Given the description of an element on the screen output the (x, y) to click on. 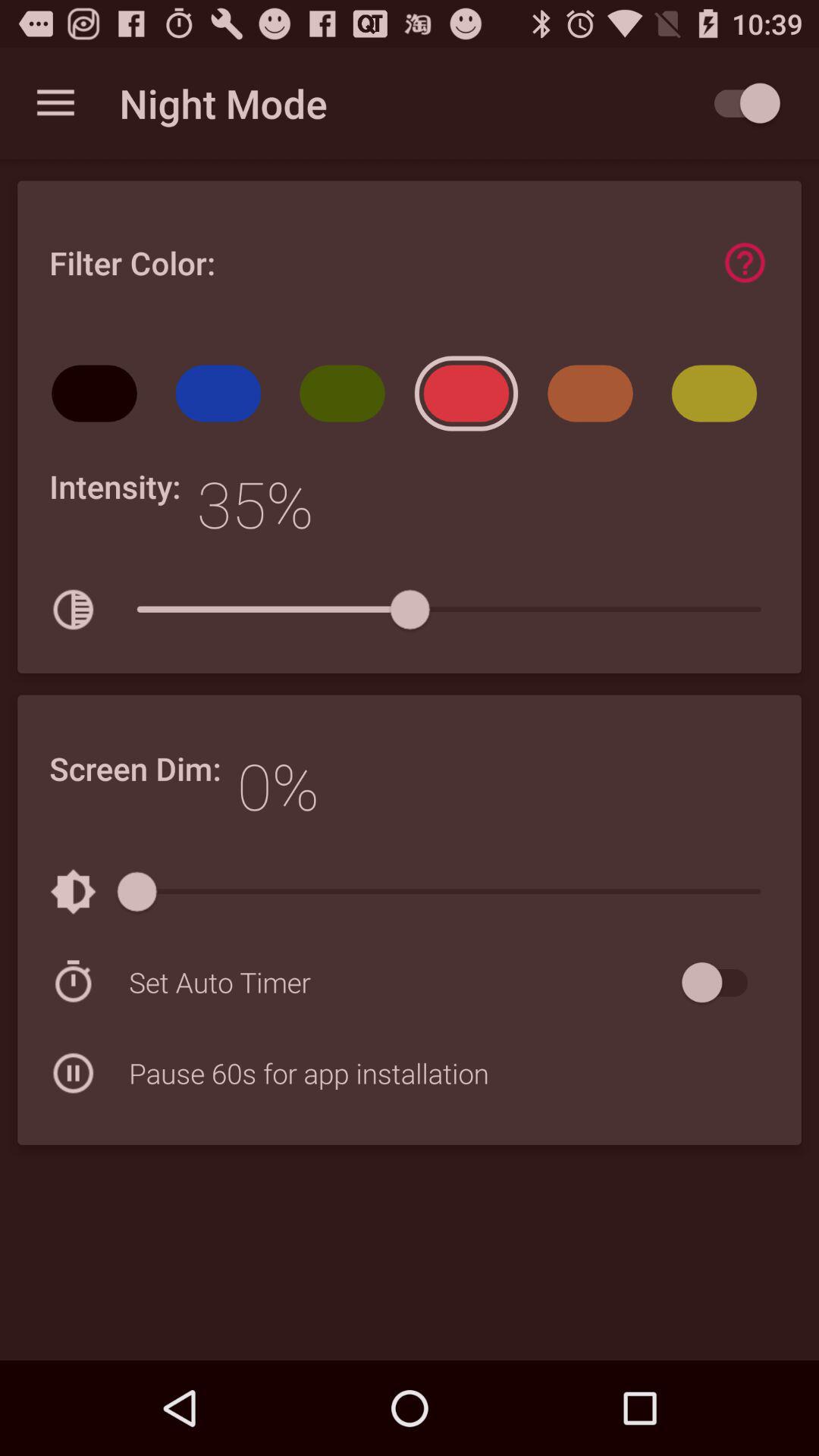
tap the item next to the filter color: (744, 262)
